Given the description of an element on the screen output the (x, y) to click on. 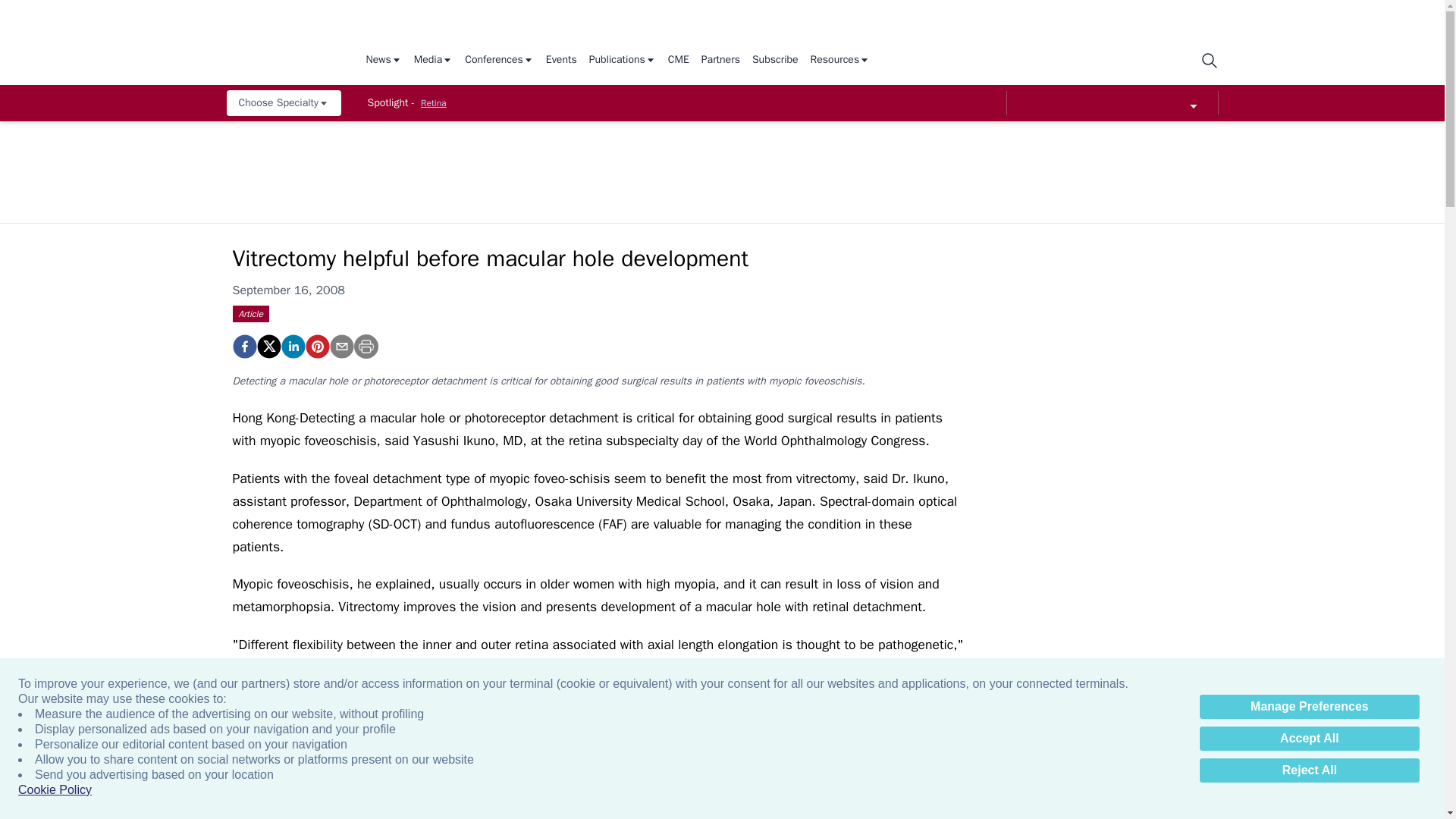
Manage Preferences (1309, 706)
News (383, 60)
Reject All (1309, 769)
Vitrectomy helpful before macular hole development (316, 346)
CME (678, 60)
Resources (840, 60)
Cookie Policy (54, 789)
Vitrectomy helpful before macular hole development (243, 346)
Partners (720, 60)
Publications (622, 60)
Media (432, 60)
Events (561, 60)
Accept All (1309, 738)
Conferences (499, 60)
Subscribe (774, 60)
